Given the description of an element on the screen output the (x, y) to click on. 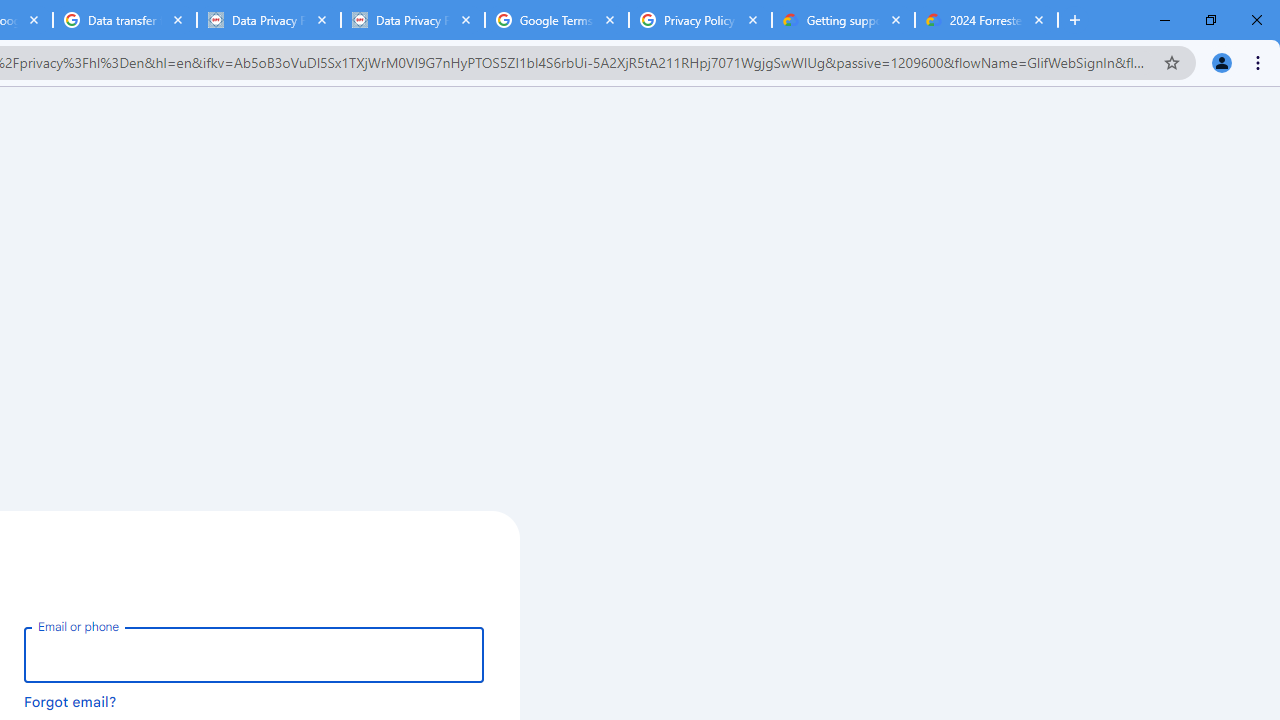
Data Privacy Framework (268, 20)
Email or phone (253, 654)
Data Privacy Framework (412, 20)
Forgot email? (70, 701)
